Given the description of an element on the screen output the (x, y) to click on. 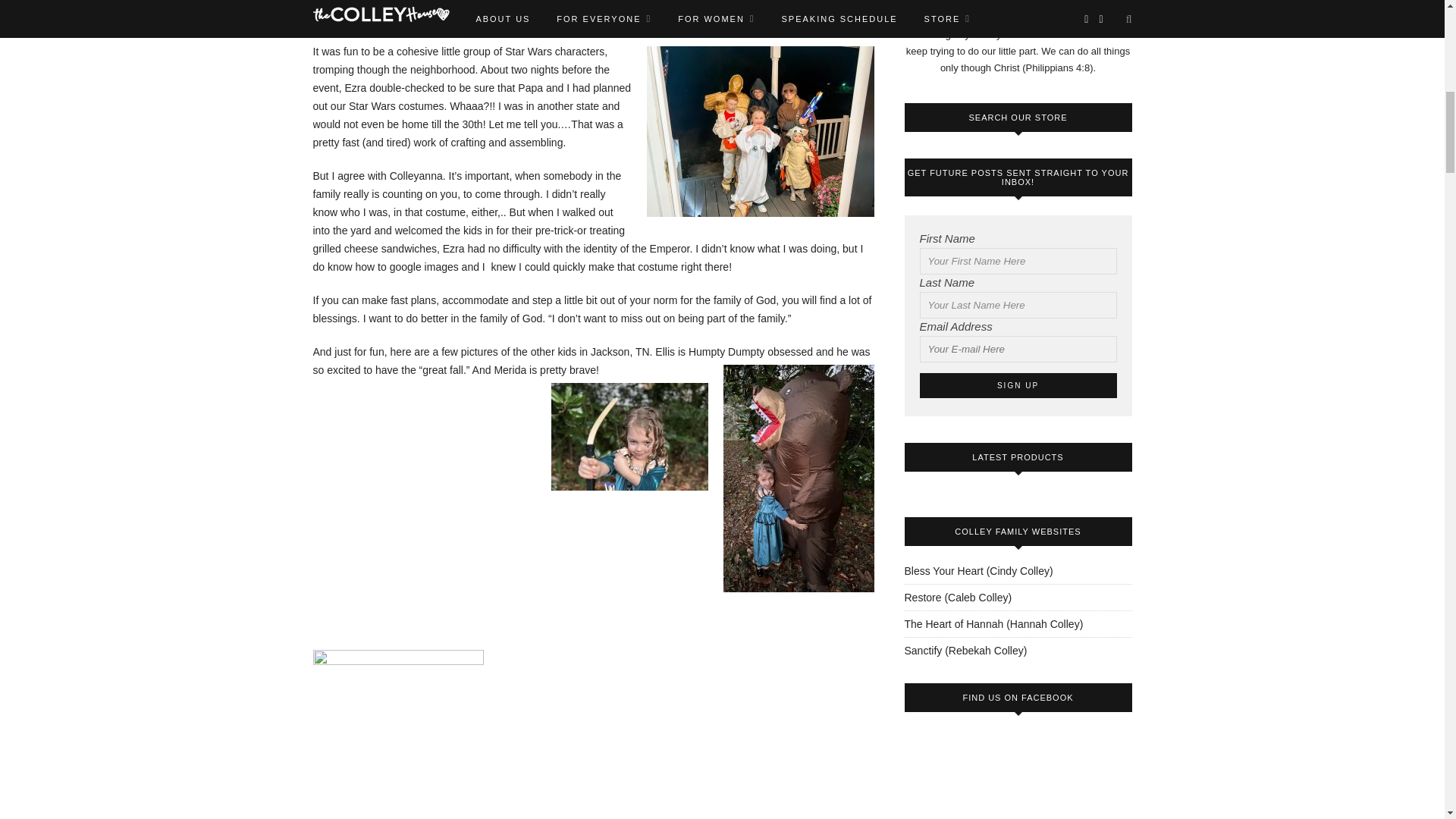
Your Last Name Here (1017, 304)
Your First Name Here (1017, 261)
Sign up (1017, 385)
